Given the description of an element on the screen output the (x, y) to click on. 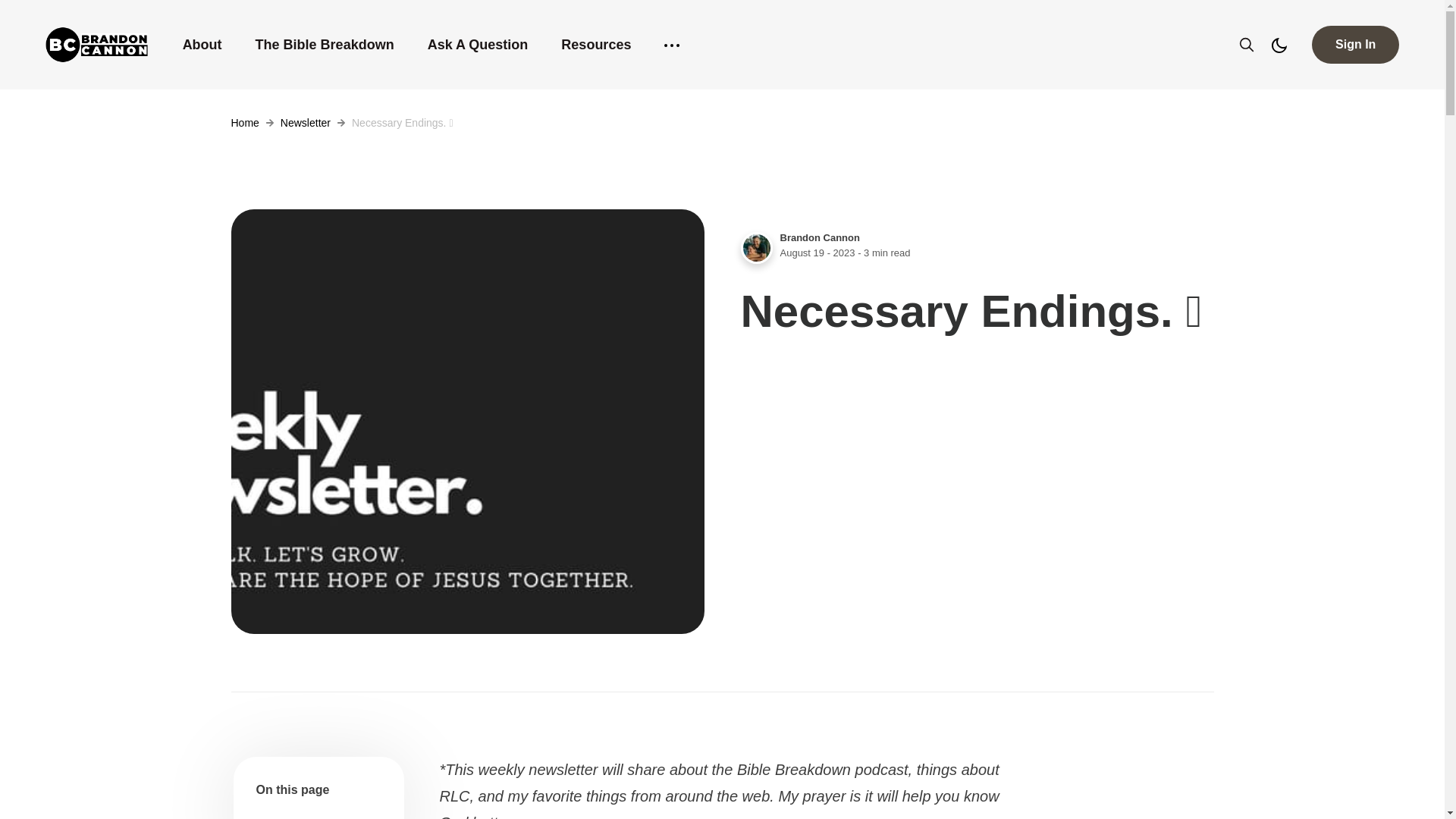
Resources (595, 44)
The Bible Breakdown (324, 44)
Newsletter (305, 122)
Introduction (281, 818)
Brandon Cannon (818, 237)
Home (244, 122)
Sign In (1355, 44)
Ask A Question (477, 44)
